Given the description of an element on the screen output the (x, y) to click on. 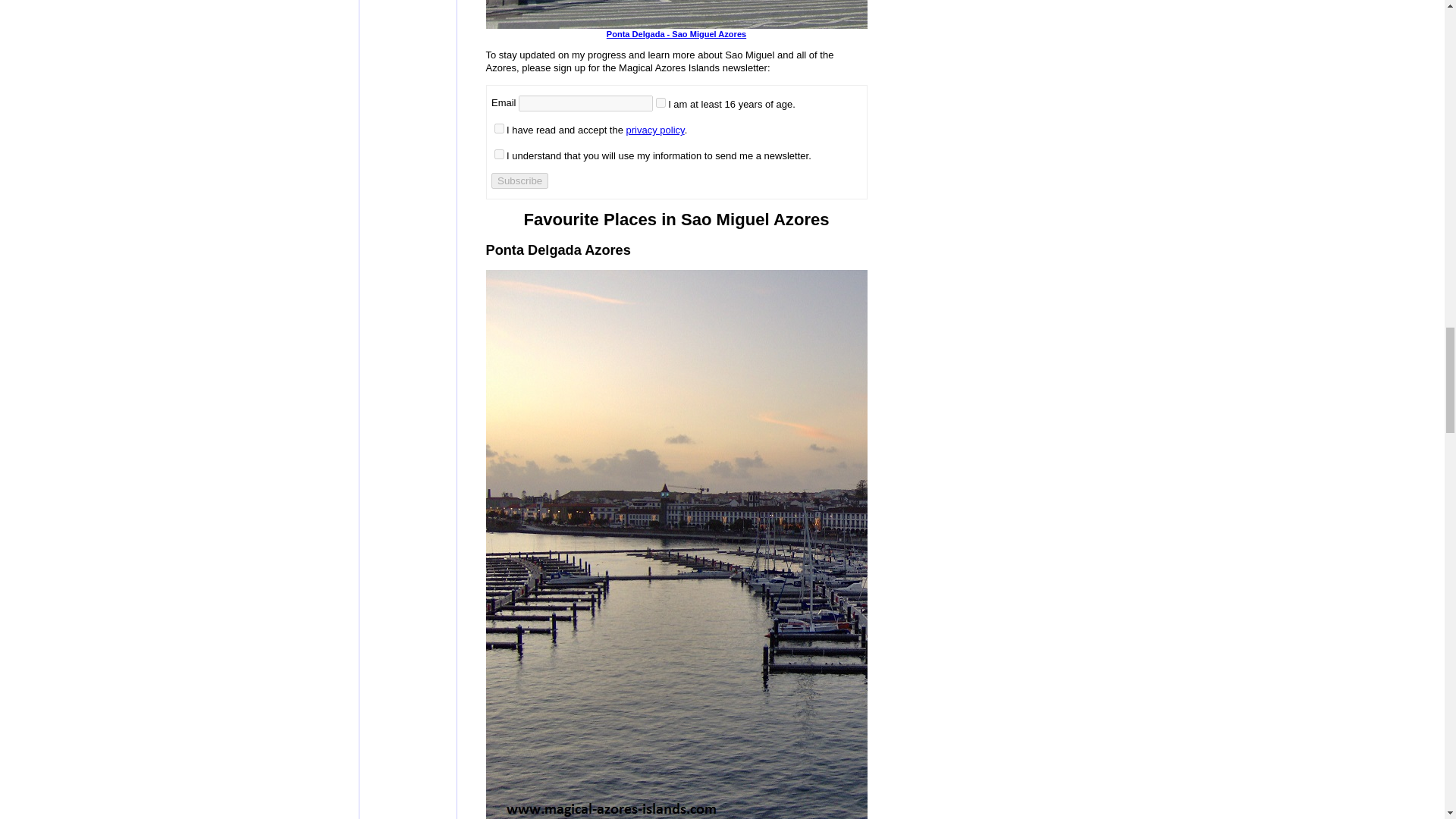
on (499, 153)
Ponta Delgada - Sao Miguel Azores (863, 29)
Ponta Delgada - Sao Miguel Azores (863, 14)
on (660, 102)
Subscribe (520, 180)
Ponta Delgada - Sao Miguel Azores (863, 29)
on (499, 128)
privacy policy (655, 129)
